Given the description of an element on the screen output the (x, y) to click on. 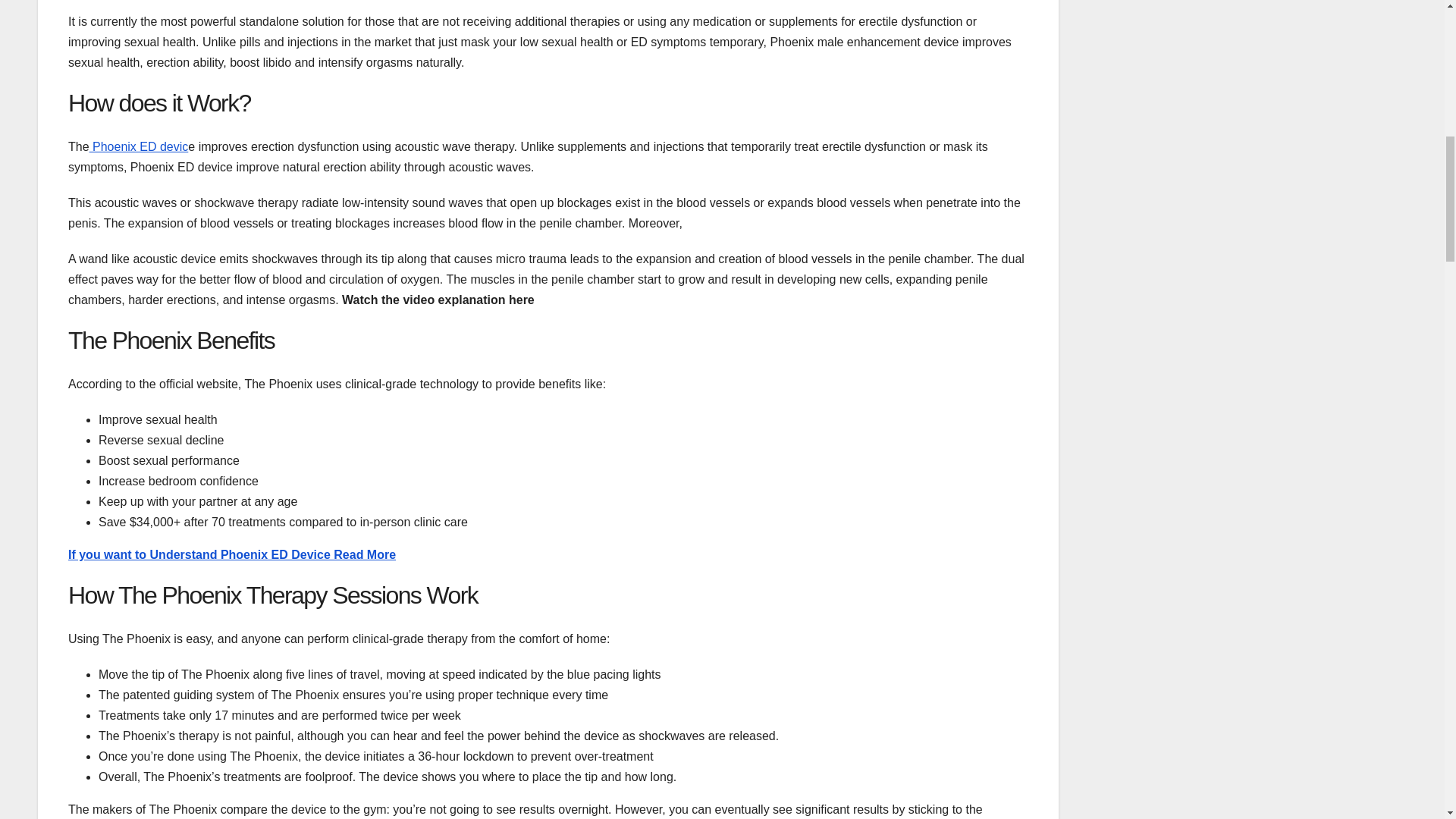
If you want to Understand Phoenix ED Device Read More (232, 554)
Phoenix ED devic (138, 146)
